Given the description of an element on the screen output the (x, y) to click on. 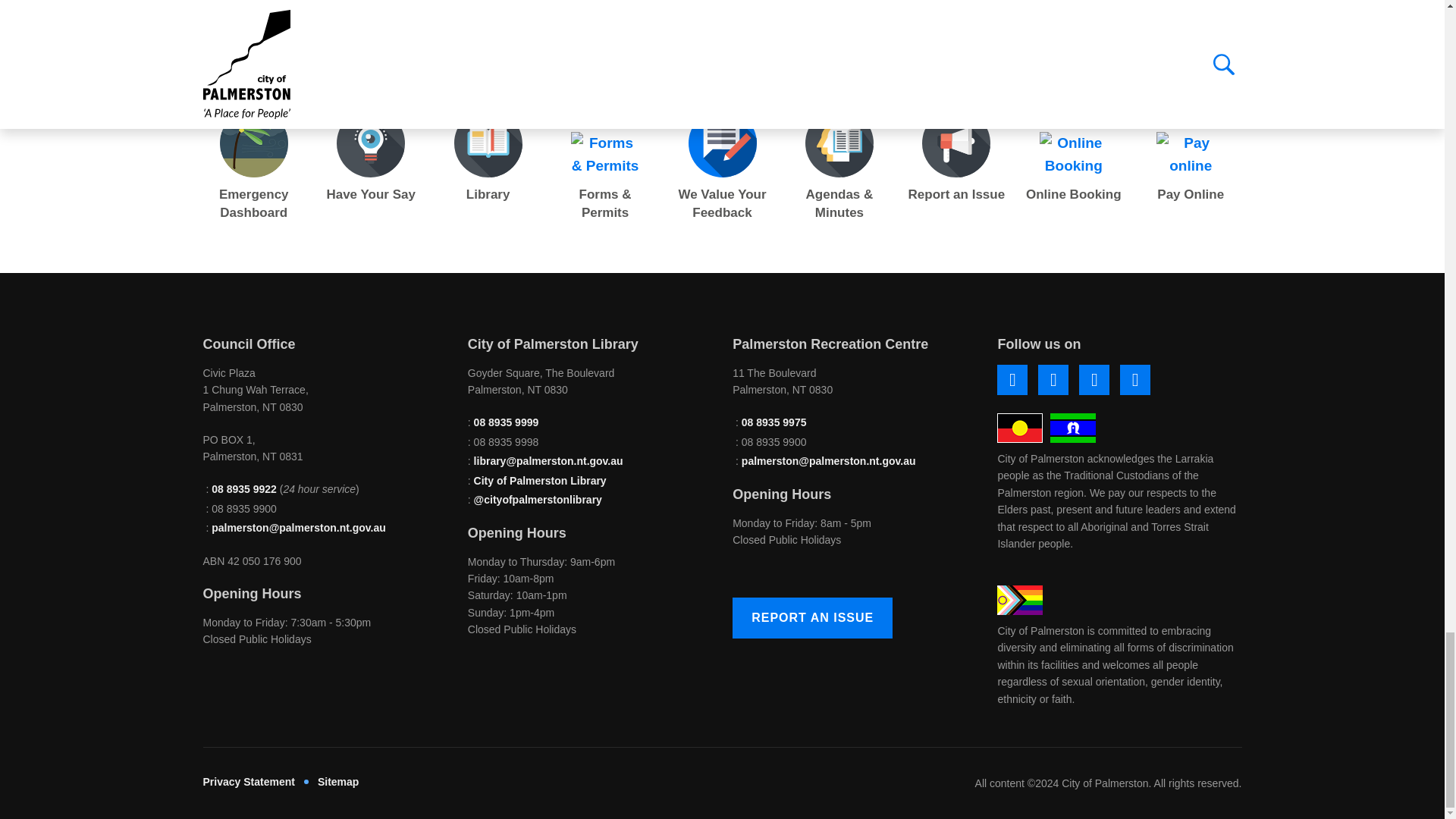
Link opens in a new window (1134, 379)
Link opens in a new window (1012, 379)
Link opens in a new window (1053, 379)
Link opens in a new window (1093, 379)
